Given the description of an element on the screen output the (x, y) to click on. 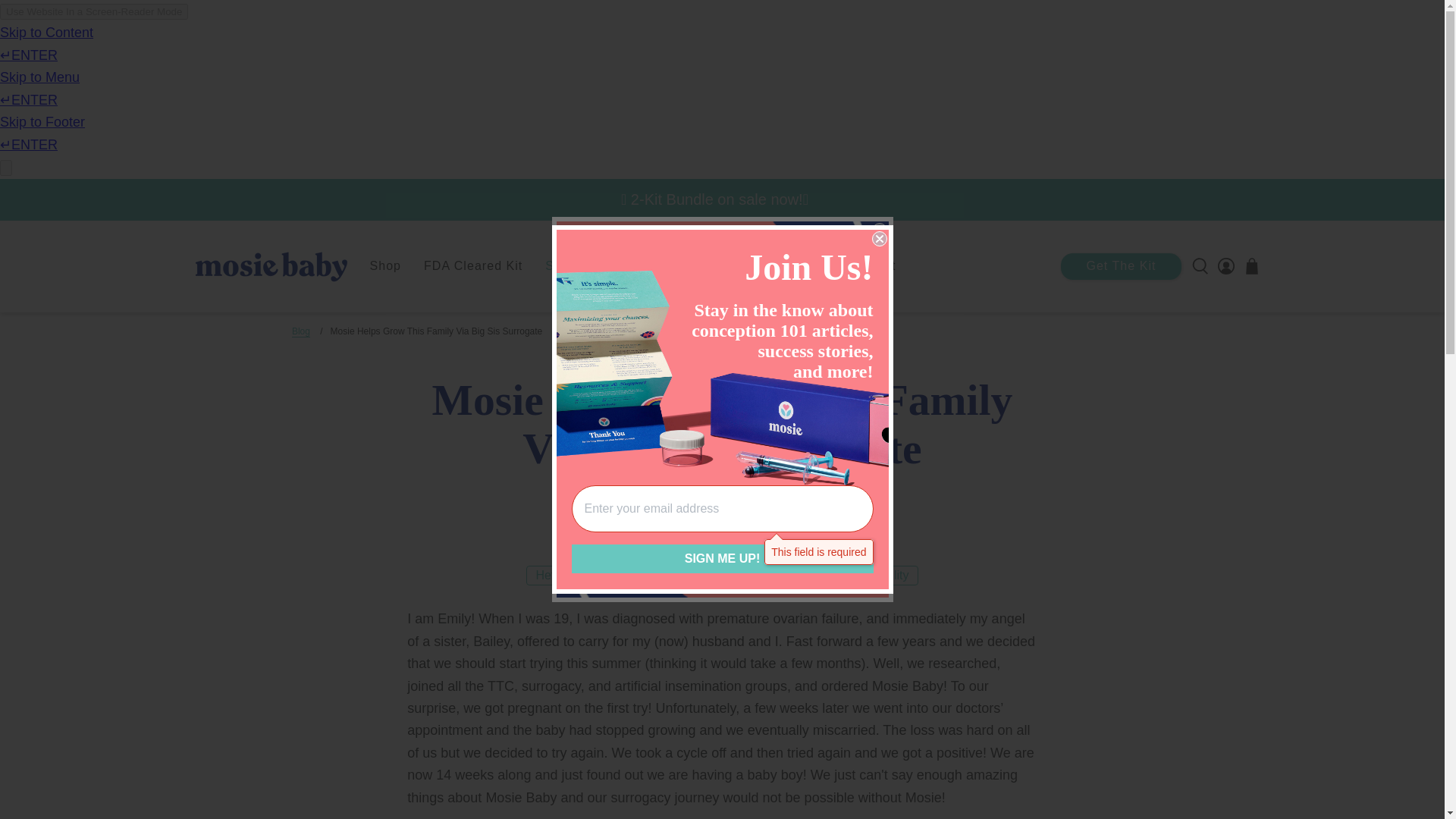
Mosie Stories tagged Miscarriage (638, 575)
Hetero (553, 575)
Mosie Baby (271, 266)
FDA Cleared Kit (473, 265)
Support (871, 265)
Learn (797, 265)
Get The Kit (1120, 266)
Shop (385, 265)
Success Stories (594, 265)
Surrogate (730, 575)
Mosie Stories tagged Surrogate (730, 575)
Unexplained Infertility (850, 575)
Mosie Stories tagged Unexplained Infertility (850, 575)
How It Works (708, 265)
Blog (301, 331)
